Given the description of an element on the screen output the (x, y) to click on. 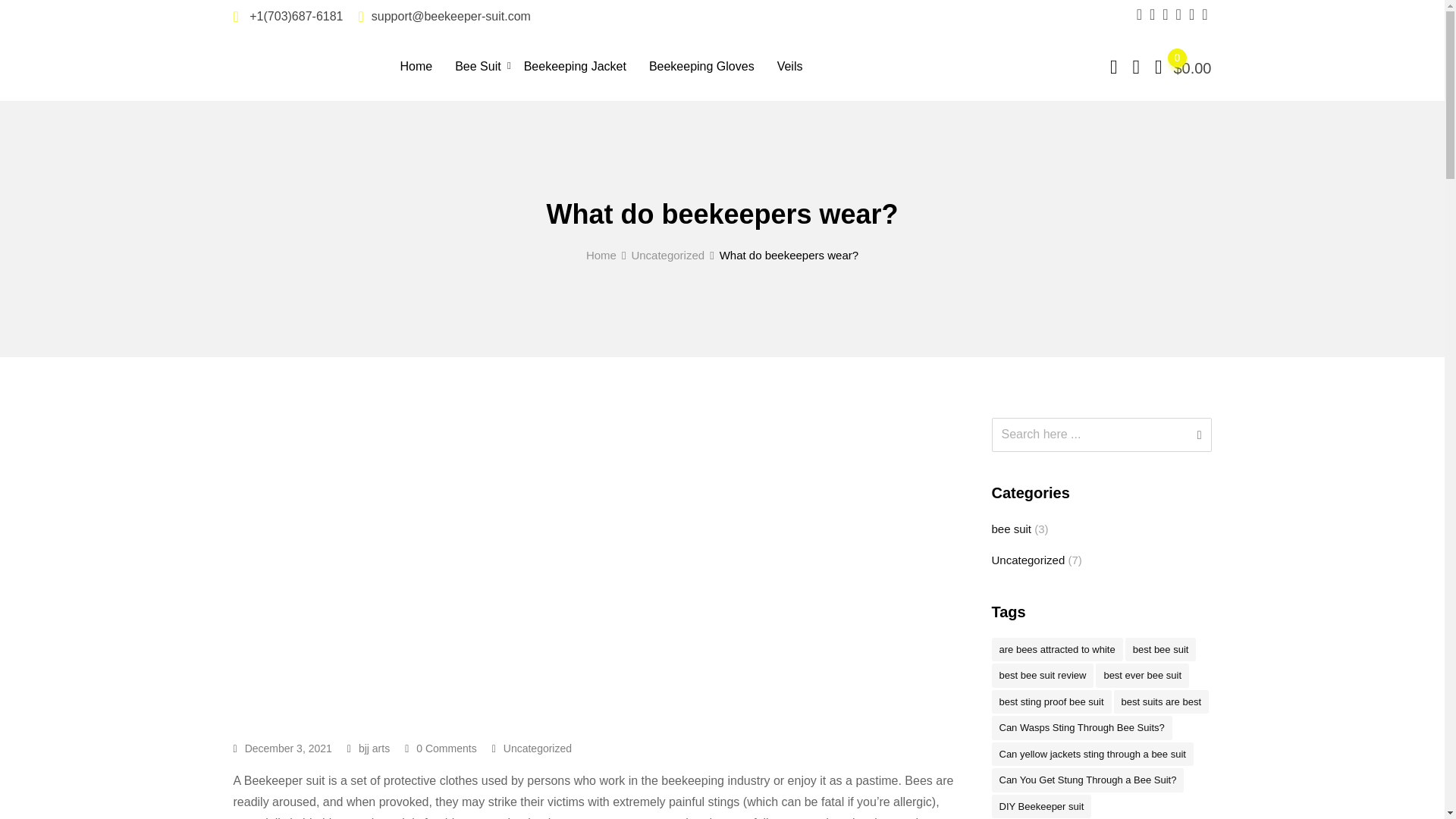
Beekeeping Gloves (701, 65)
Bee Suit (478, 65)
Uncategorized (537, 748)
Home (600, 254)
Beekeeping Jacket (574, 65)
Uncategorized (667, 254)
bjj arts (374, 748)
